Given the description of an element on the screen output the (x, y) to click on. 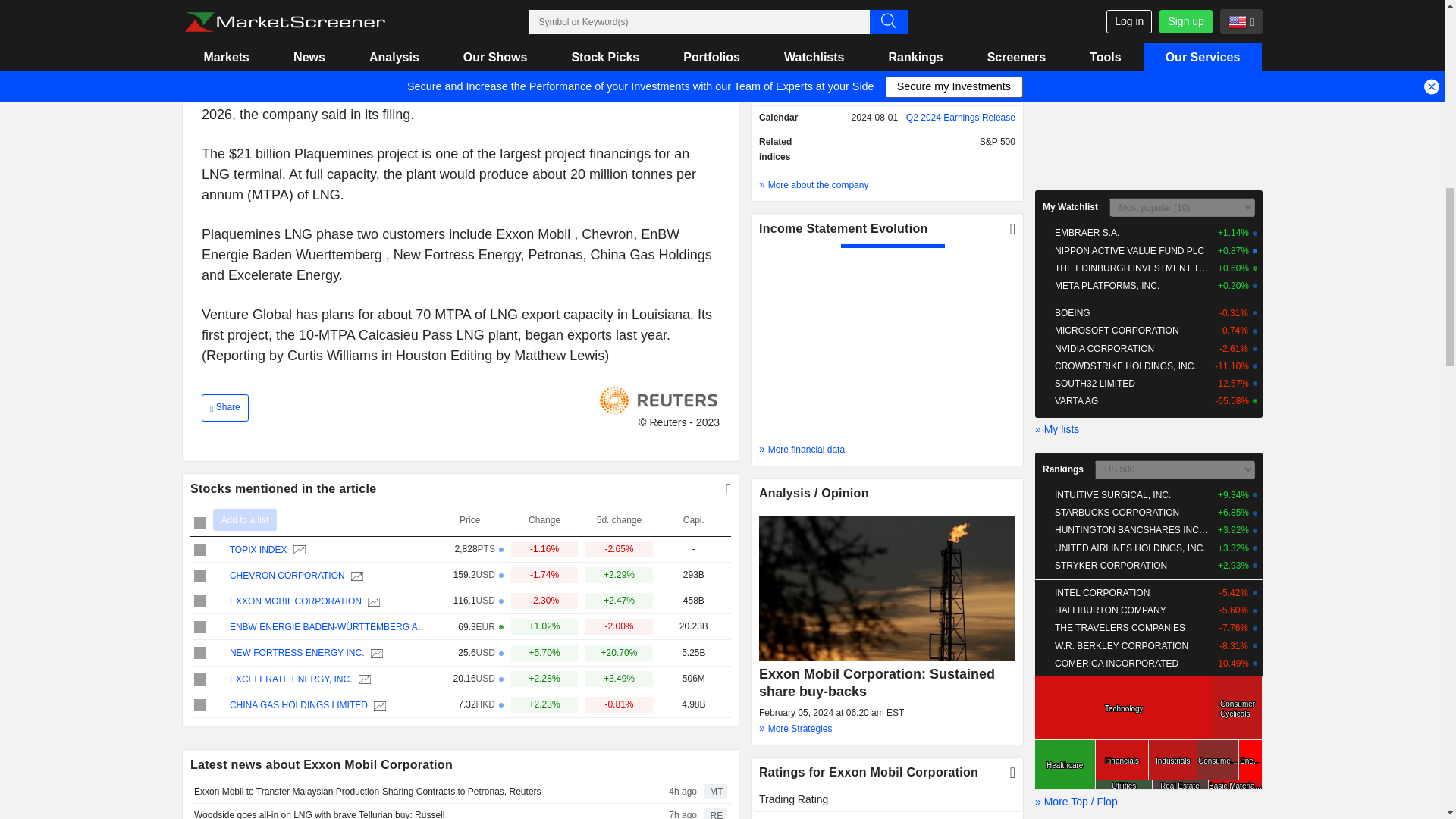
on (199, 575)
on (199, 705)
on (199, 653)
on (199, 601)
on (199, 522)
on (199, 679)
on (199, 549)
on (199, 626)
